Given the description of an element on the screen output the (x, y) to click on. 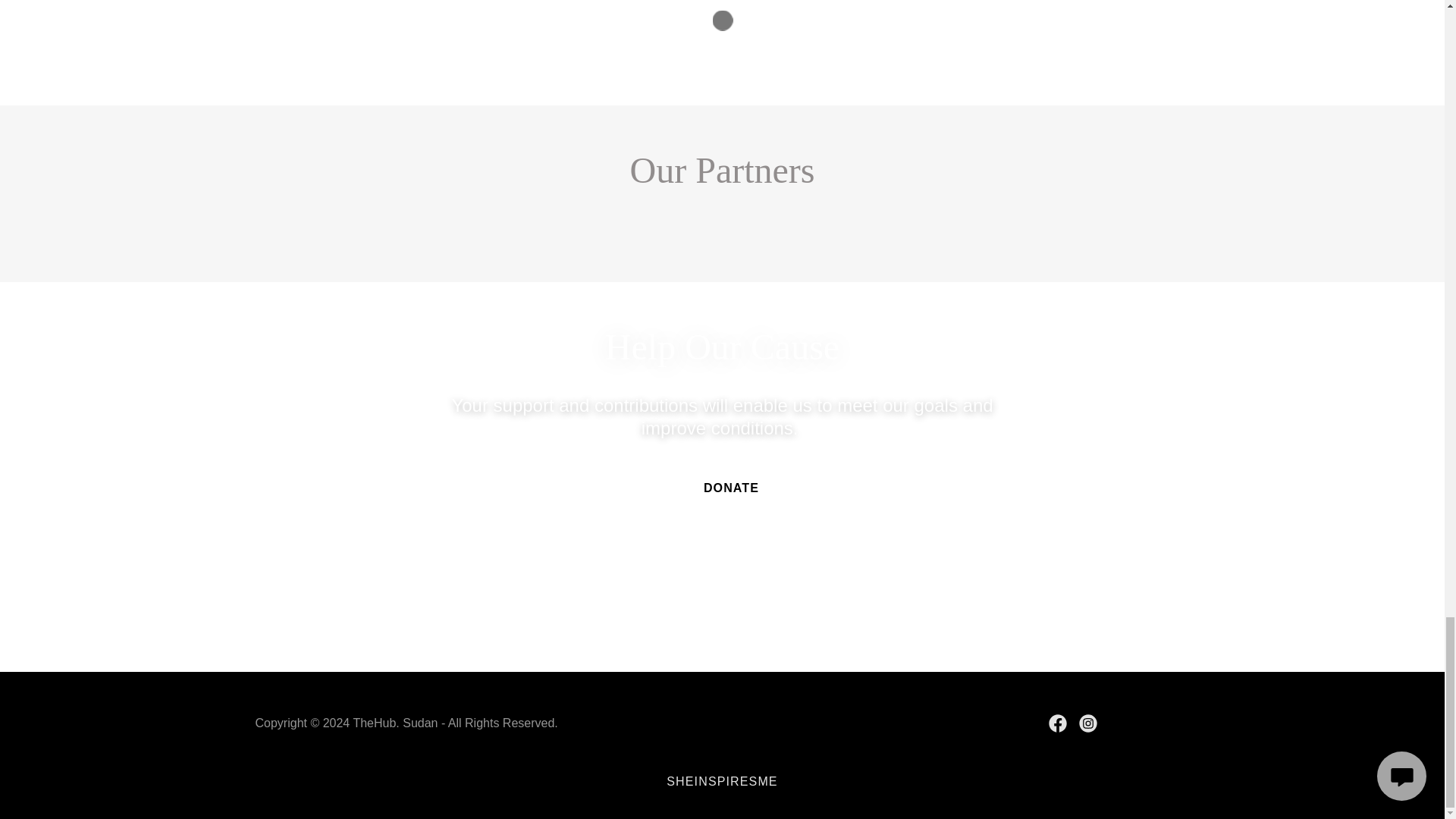
DONATE (722, 487)
SHEINSPIRESME (722, 781)
